Given the description of an element on the screen output the (x, y) to click on. 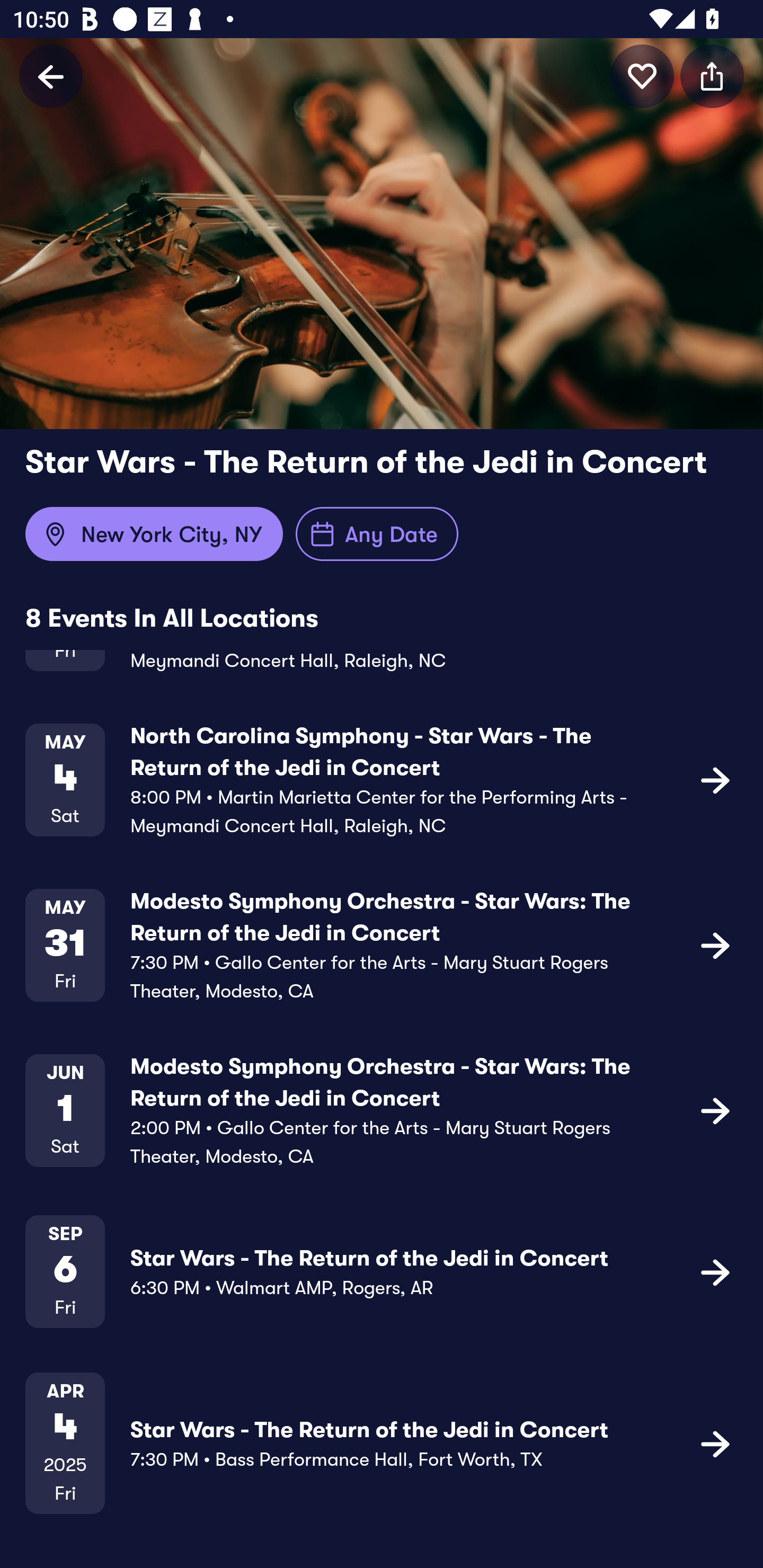
Back (50, 75)
icon button (641, 75)
icon button (711, 75)
New York City, NY (153, 533)
Any Date (377, 533)
icon button (714, 779)
icon button (714, 945)
icon button (714, 1110)
icon button (714, 1271)
icon button (714, 1443)
